Given the description of an element on the screen output the (x, y) to click on. 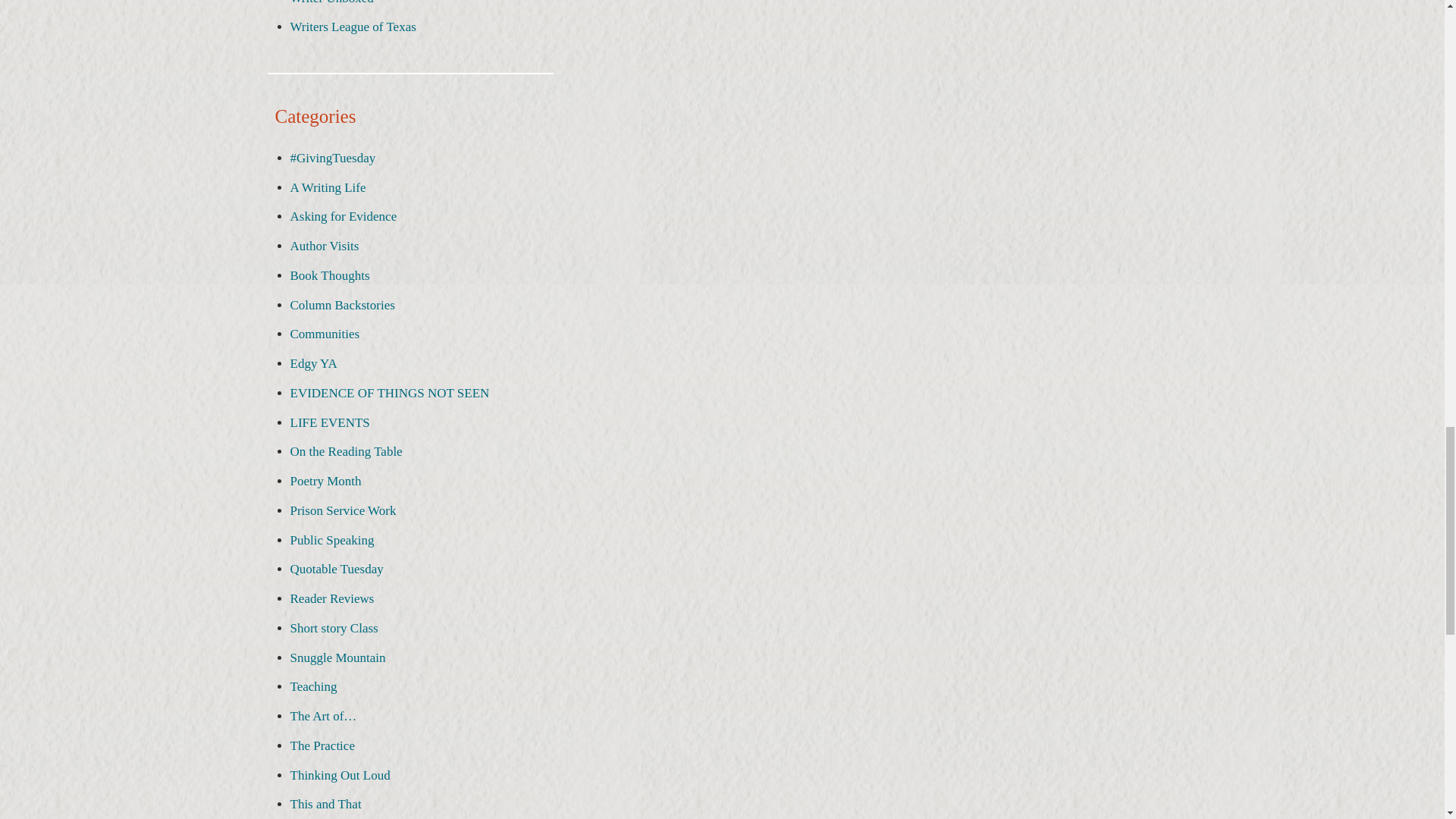
A Writing Life (327, 187)
On the Reading Table (345, 451)
Book Thoughts (329, 275)
Writers League of Texas (351, 26)
EVIDENCE OF THINGS NOT SEEN (389, 392)
Author Visits (323, 246)
Asking for Evidence (342, 216)
Edgy YA (312, 363)
Communities (324, 333)
Writer Unboxed (330, 2)
Column Backstories (341, 305)
LIFE EVENTS (329, 422)
